Given the description of an element on the screen output the (x, y) to click on. 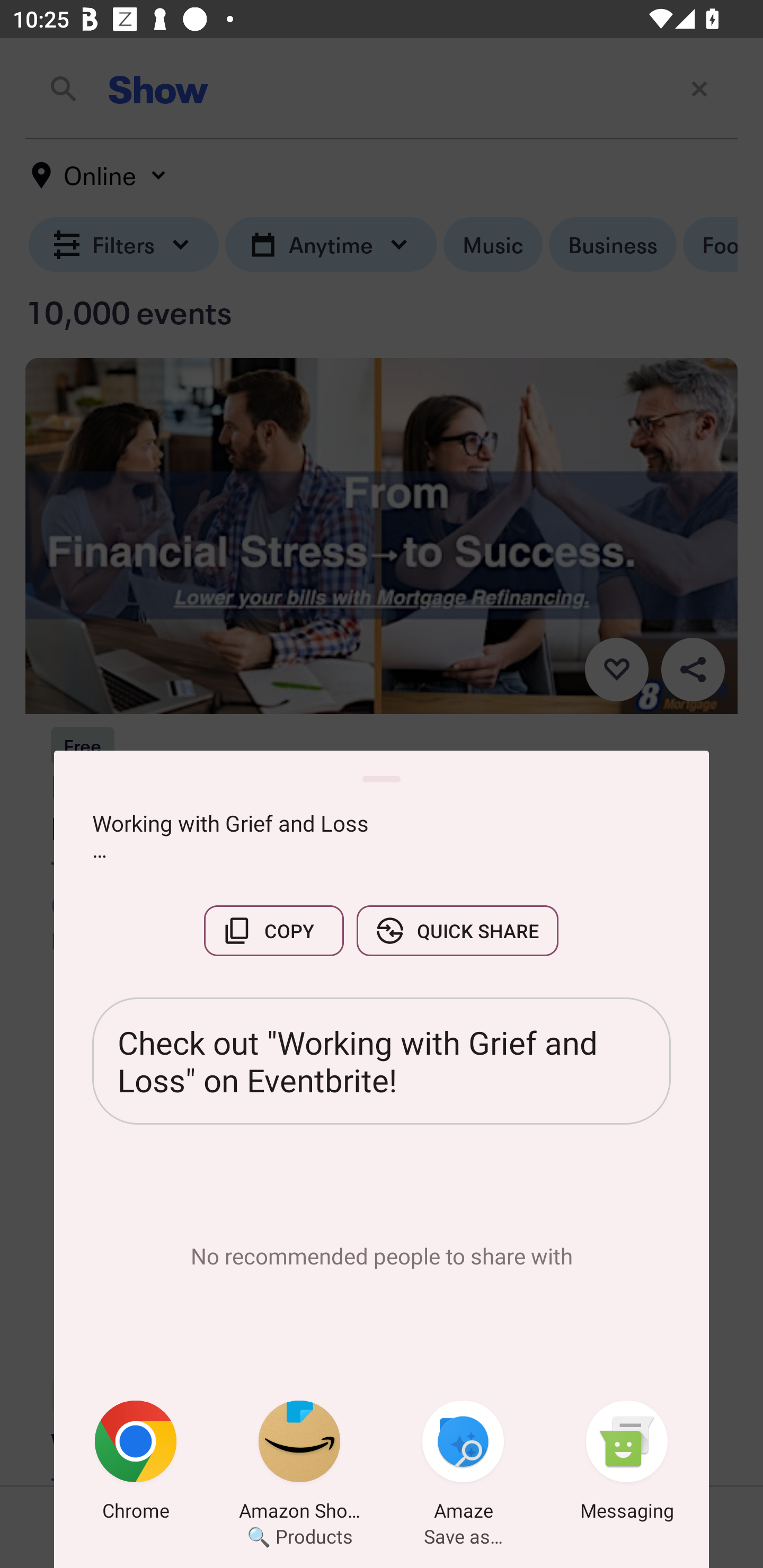
COPY (273, 930)
QUICK SHARE (457, 930)
Chrome (135, 1463)
Amazon Shopping 🔍 Products (299, 1463)
Amaze Save as… (463, 1463)
Messaging (626, 1463)
